Given the description of an element on the screen output the (x, y) to click on. 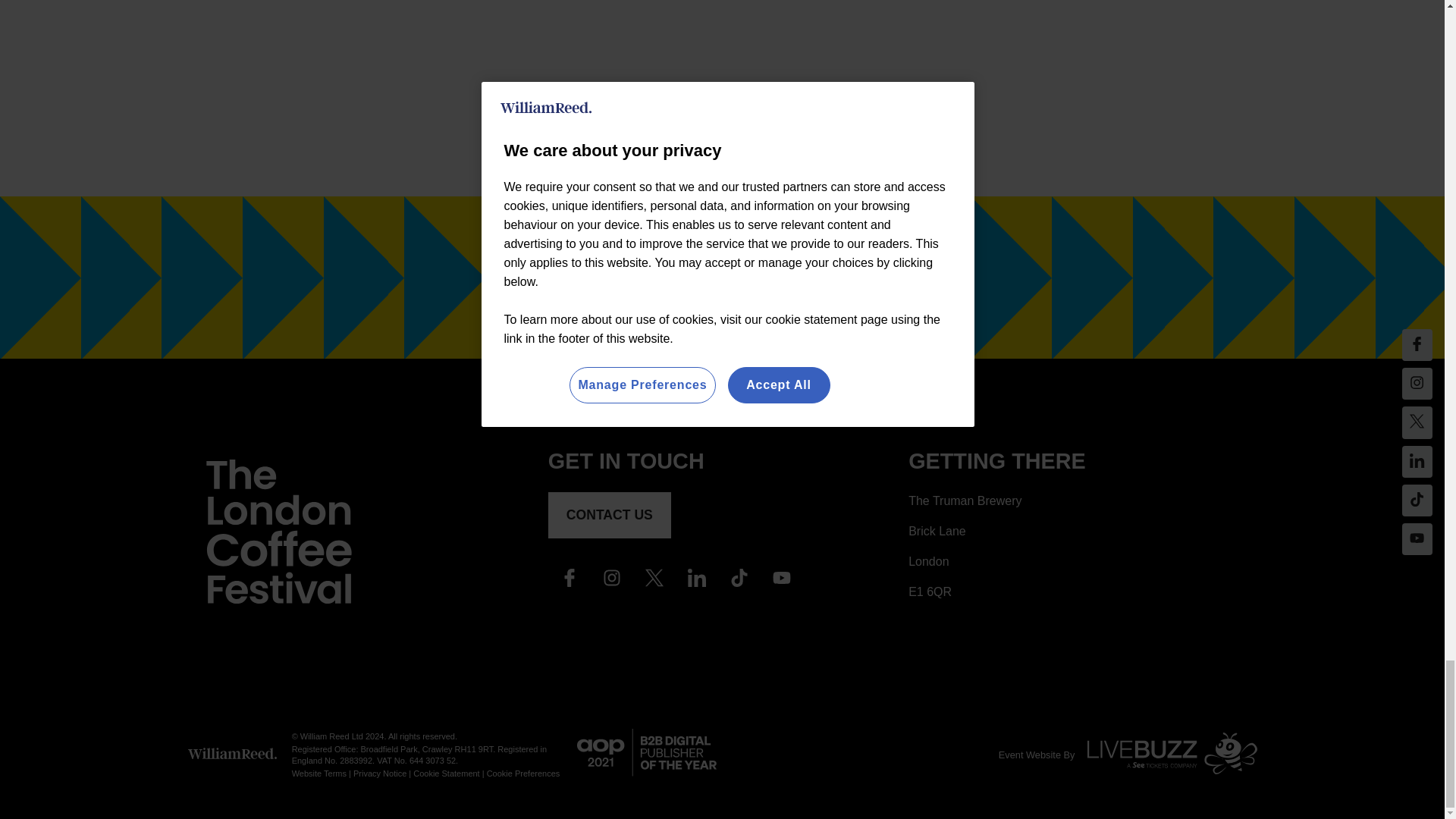
LiveBuzz (1166, 755)
Follow Us On YouTube (738, 582)
Follow Us On Facebook (569, 582)
Follow Us On LinkedIn (696, 582)
Follow Us On Instagram (612, 582)
Follow us on Twitter (654, 582)
Follow Us On YouTube (781, 582)
